Given the description of an element on the screen output the (x, y) to click on. 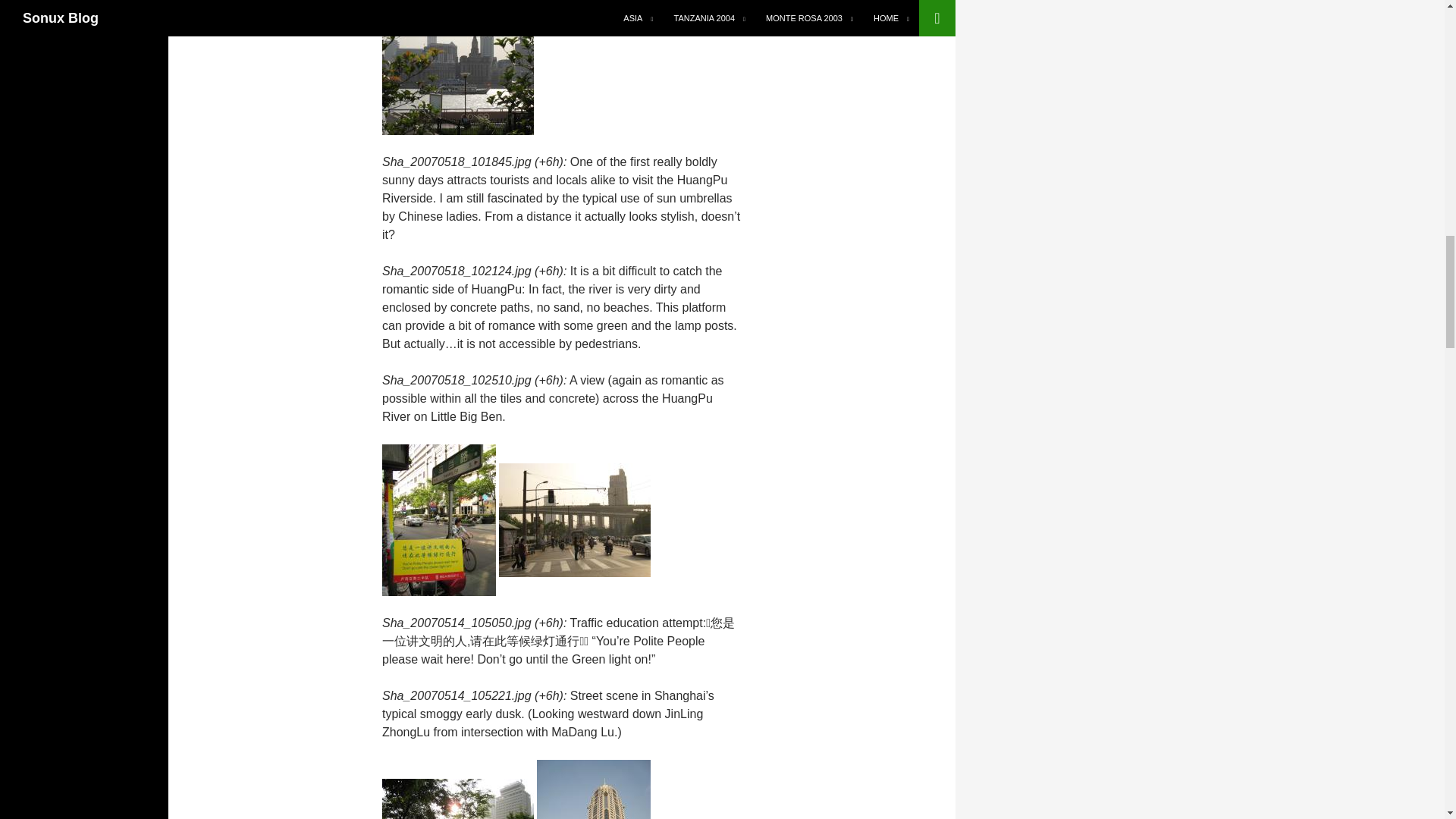
Smoggy Early Dusk (574, 518)
